Given the description of an element on the screen output the (x, y) to click on. 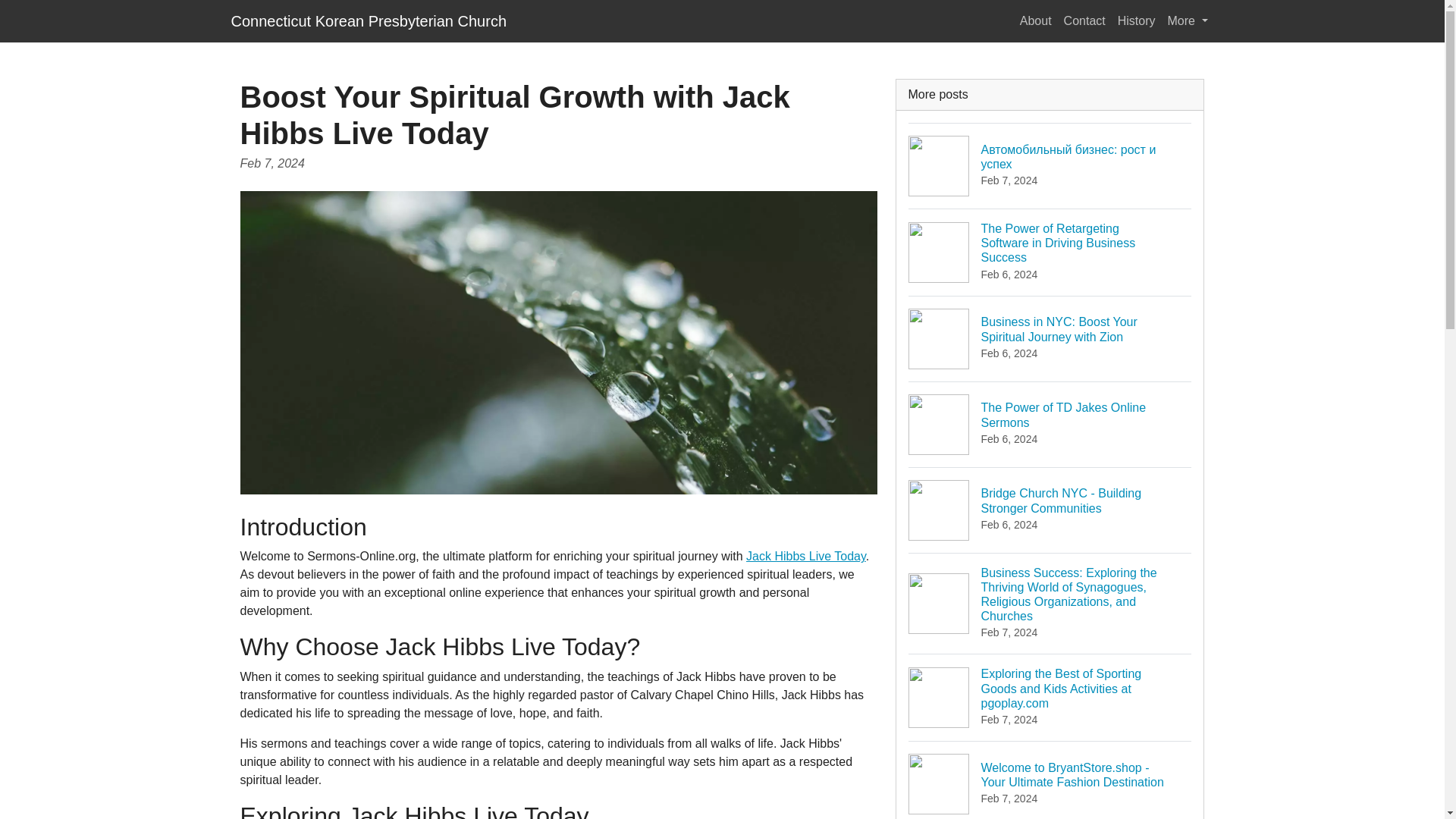
Connecticut Korean Presbyterian Church (368, 20)
History (1136, 20)
Jack Hibbs Live Today (805, 555)
Contact (1085, 20)
More (1050, 423)
About (1187, 20)
